Given the description of an element on the screen output the (x, y) to click on. 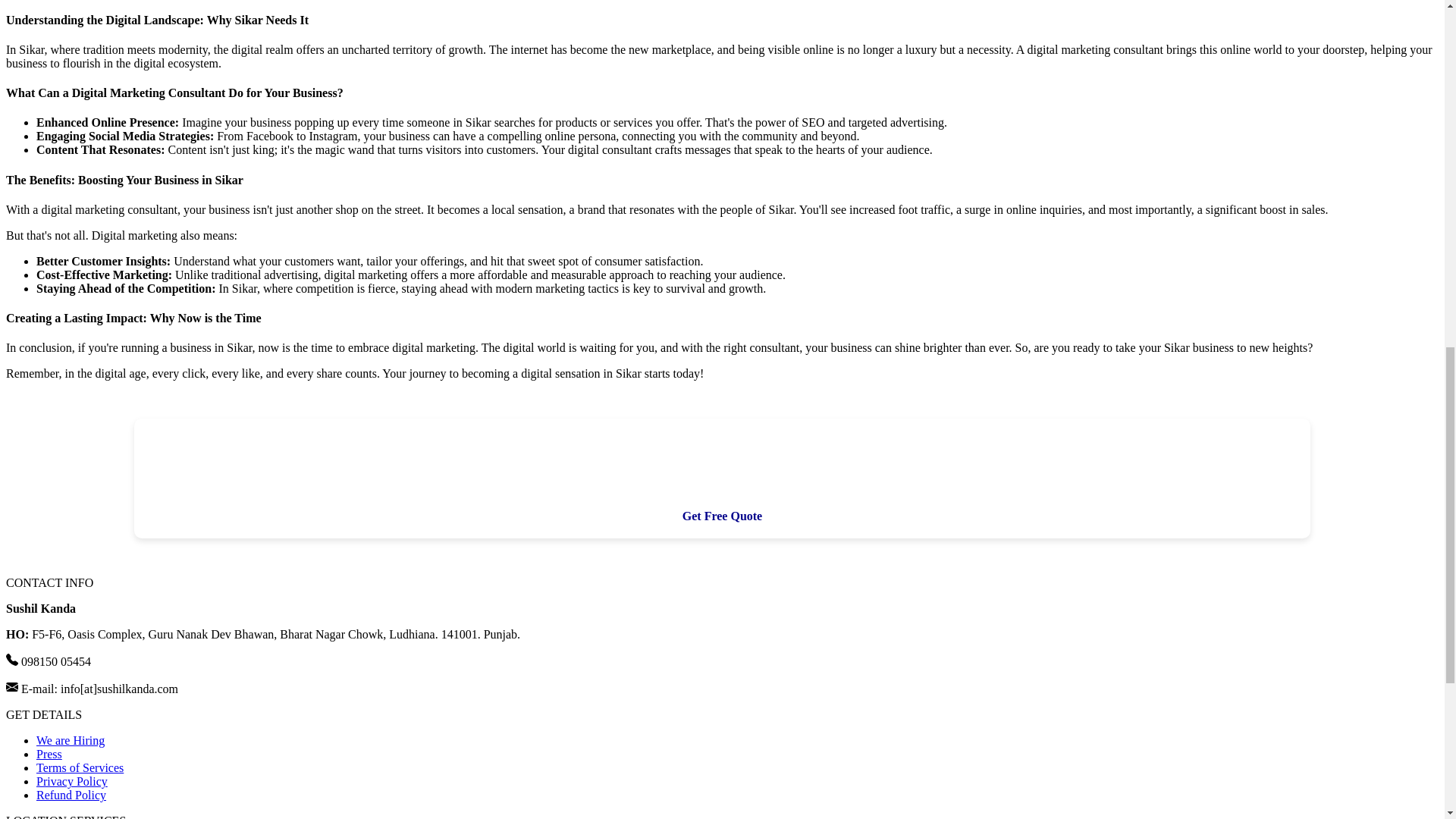
Refund Policy (71, 794)
Get Free Quote (721, 515)
We are Hiring (70, 739)
Press (49, 753)
Terms of Services (79, 767)
Privacy Policy (71, 780)
